Given the description of an element on the screen output the (x, y) to click on. 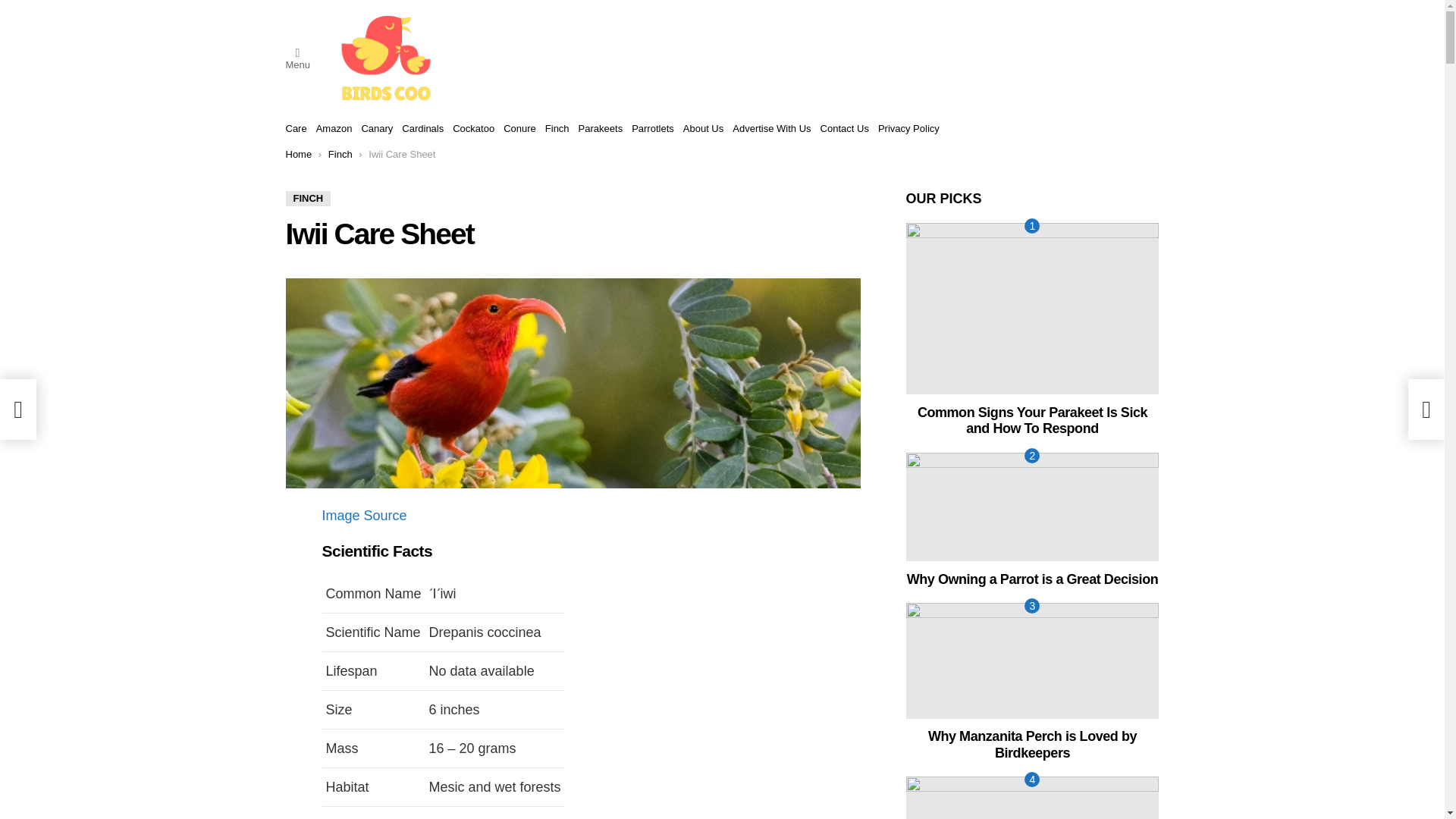
Cardinals (422, 128)
Parakeets (600, 128)
About Us (702, 128)
Finch (556, 128)
Why Owning a Parrot is a Great Decision (1031, 506)
Contact Us (845, 128)
FINCH (307, 198)
Amazon (333, 128)
Parrotlets (652, 128)
Finch (340, 153)
